Given the description of an element on the screen output the (x, y) to click on. 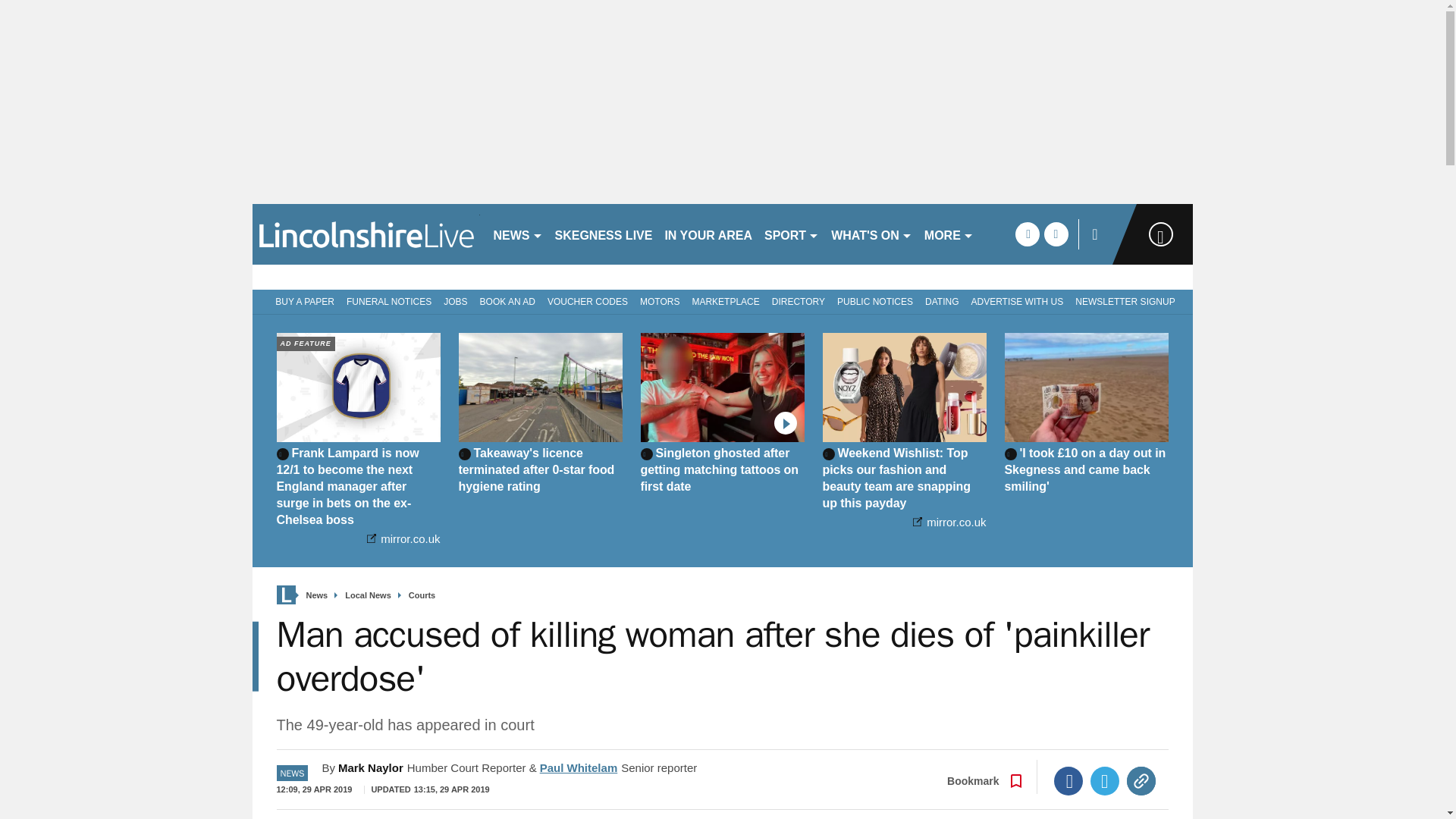
Facebook (1068, 780)
facebook (1026, 233)
NEWS (517, 233)
WHAT'S ON (871, 233)
IN YOUR AREA (708, 233)
SPORT (791, 233)
lincolnshirelive (365, 233)
SKEGNESS LIVE (603, 233)
twitter (1055, 233)
Twitter (1104, 780)
MORE (948, 233)
BUY A PAPER (301, 300)
